Given the description of an element on the screen output the (x, y) to click on. 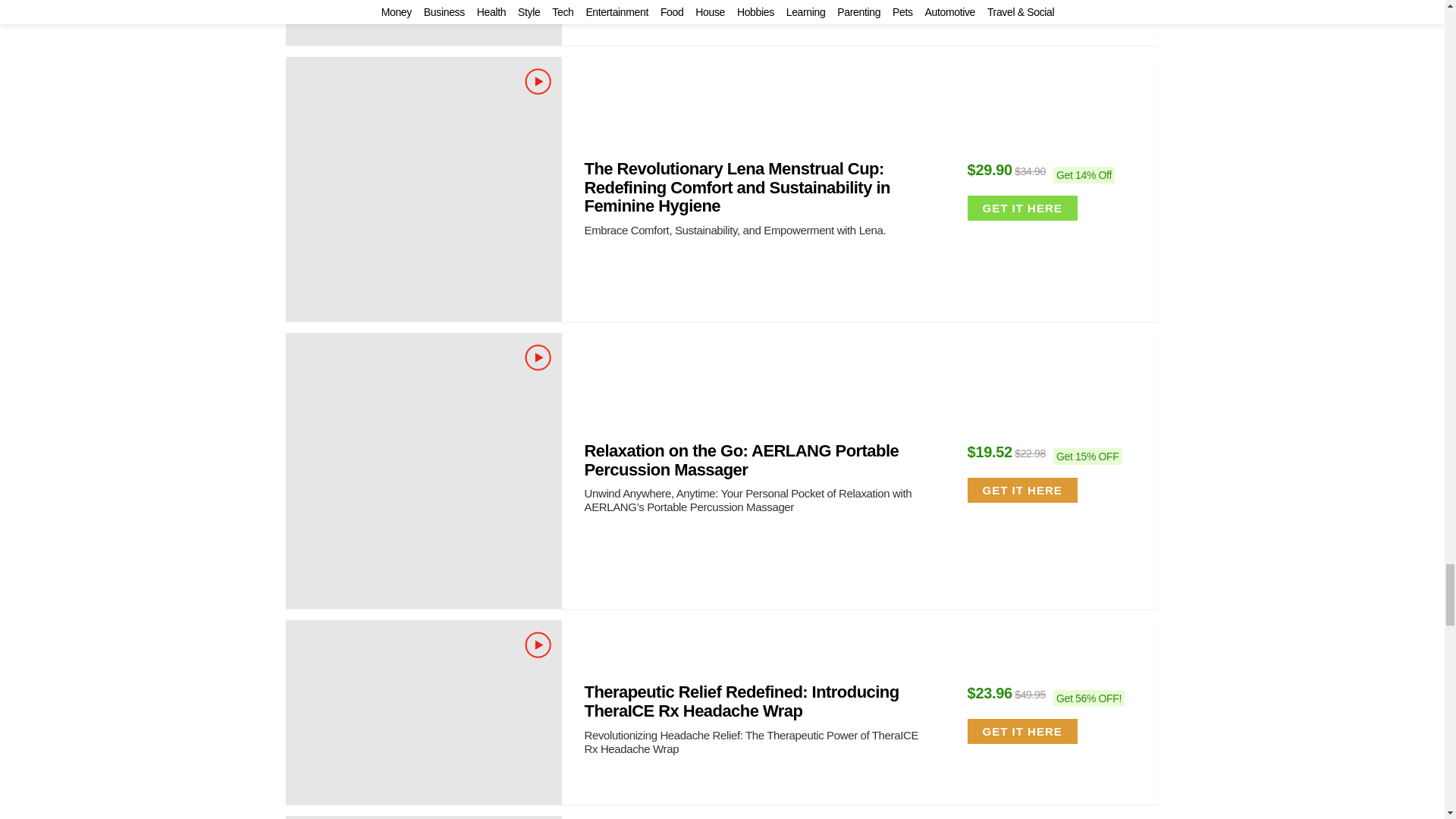
Relaxation on the Go: AERLANG Portable Percussion Massager (422, 470)
